Given the description of an element on the screen output the (x, y) to click on. 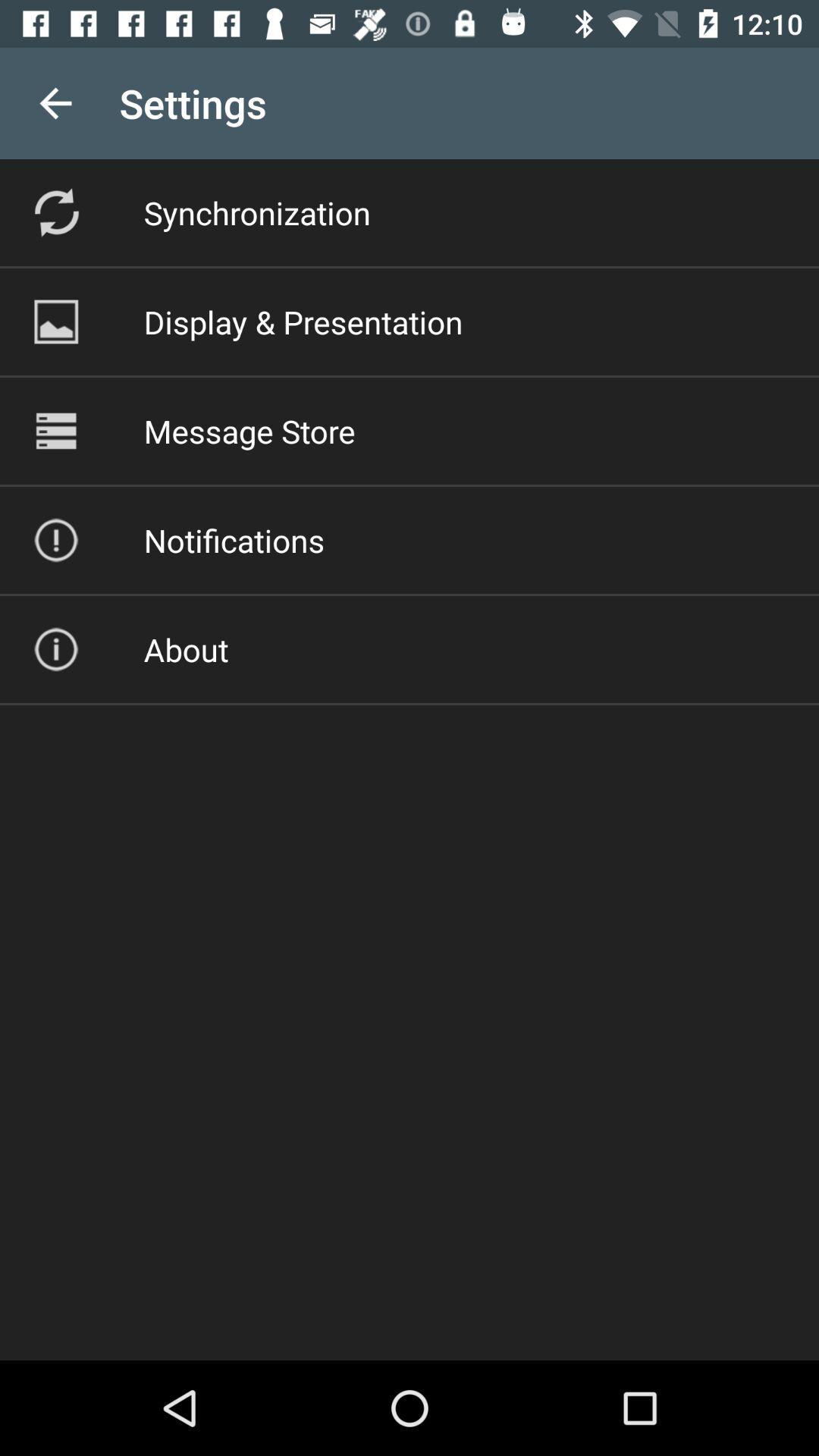
turn off the about (185, 649)
